Given the description of an element on the screen output the (x, y) to click on. 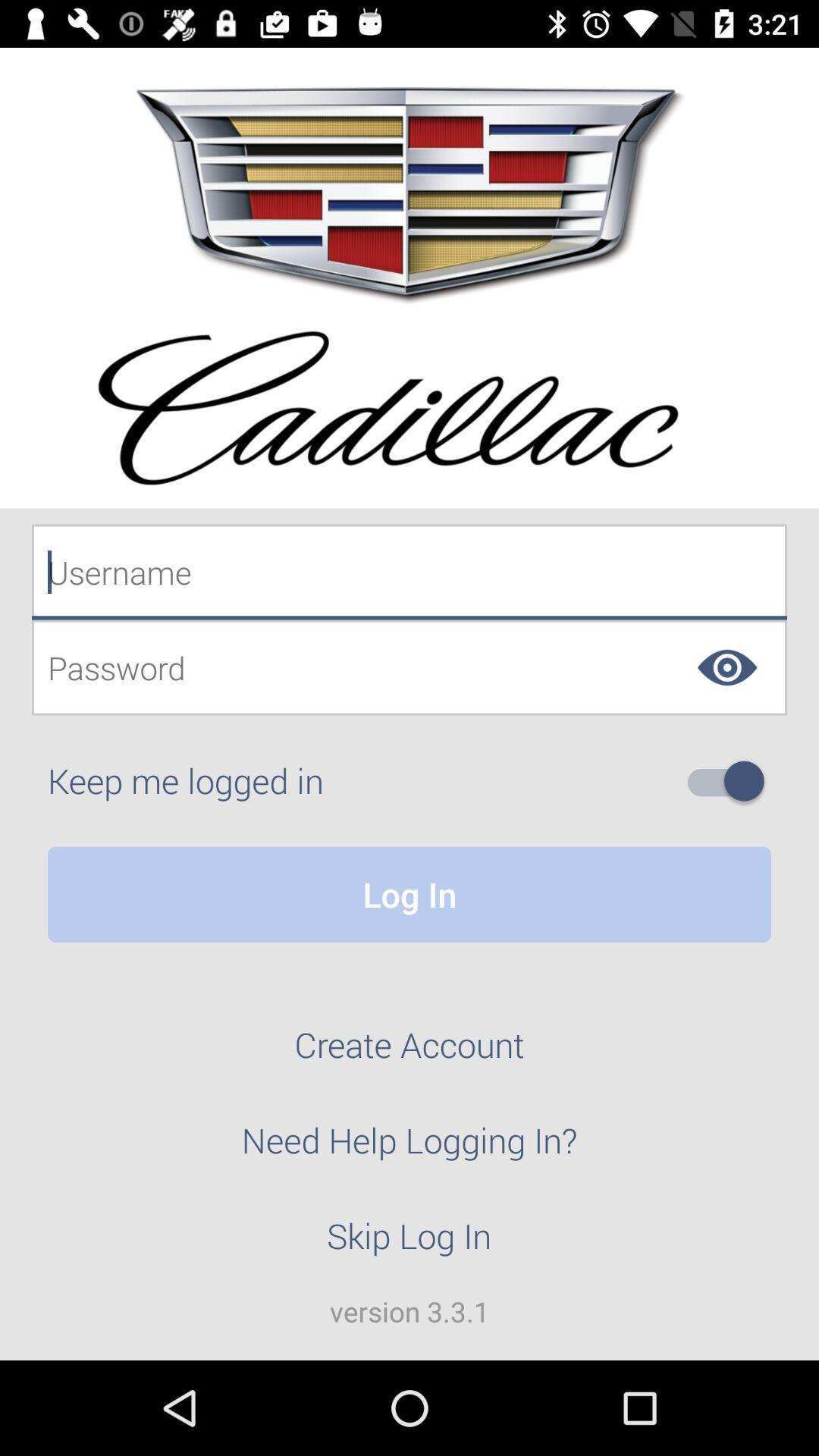
fill log in (409, 571)
